Given the description of an element on the screen output the (x, y) to click on. 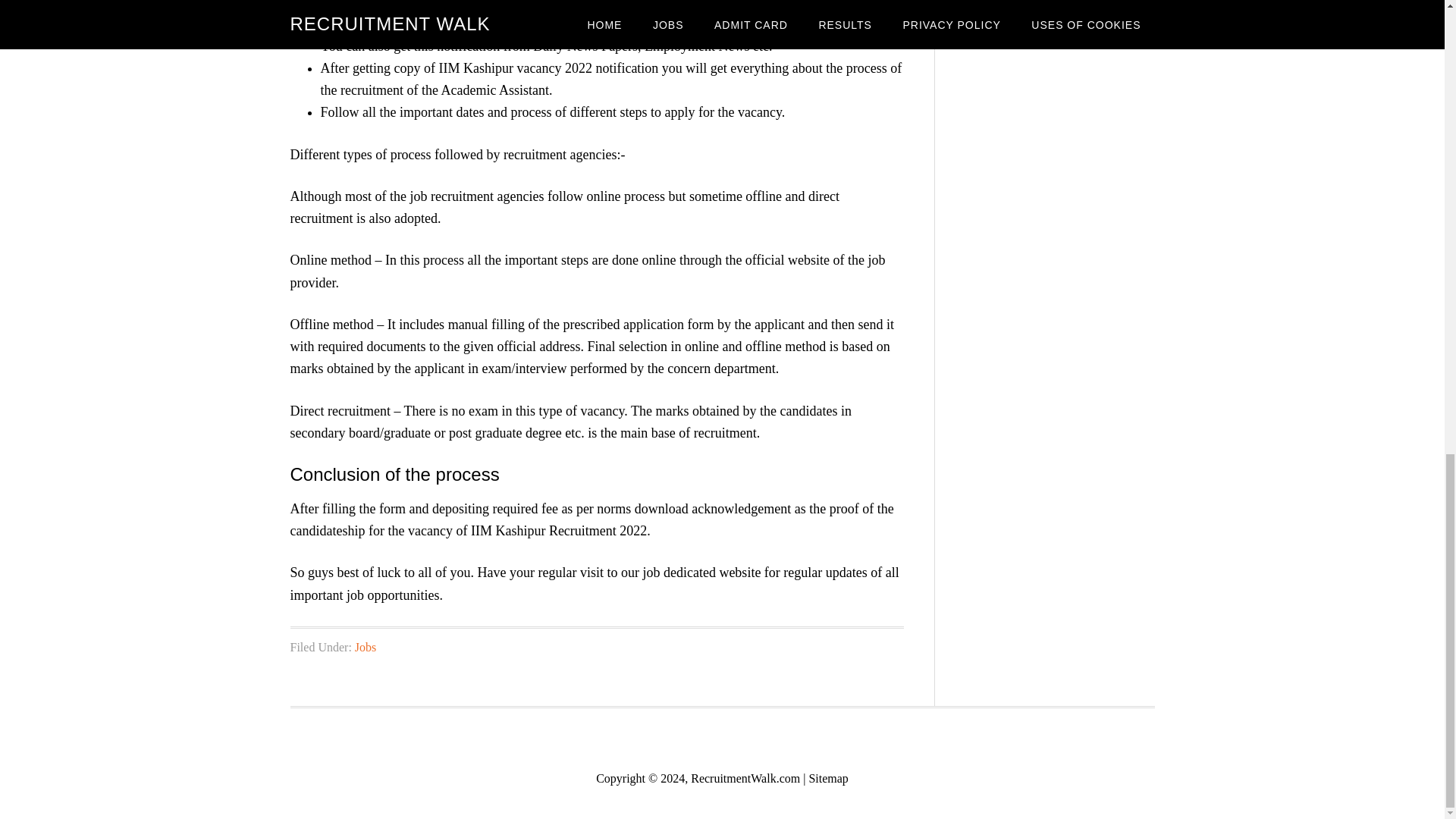
Jobs (365, 646)
Sitemap (827, 778)
